Given the description of an element on the screen output the (x, y) to click on. 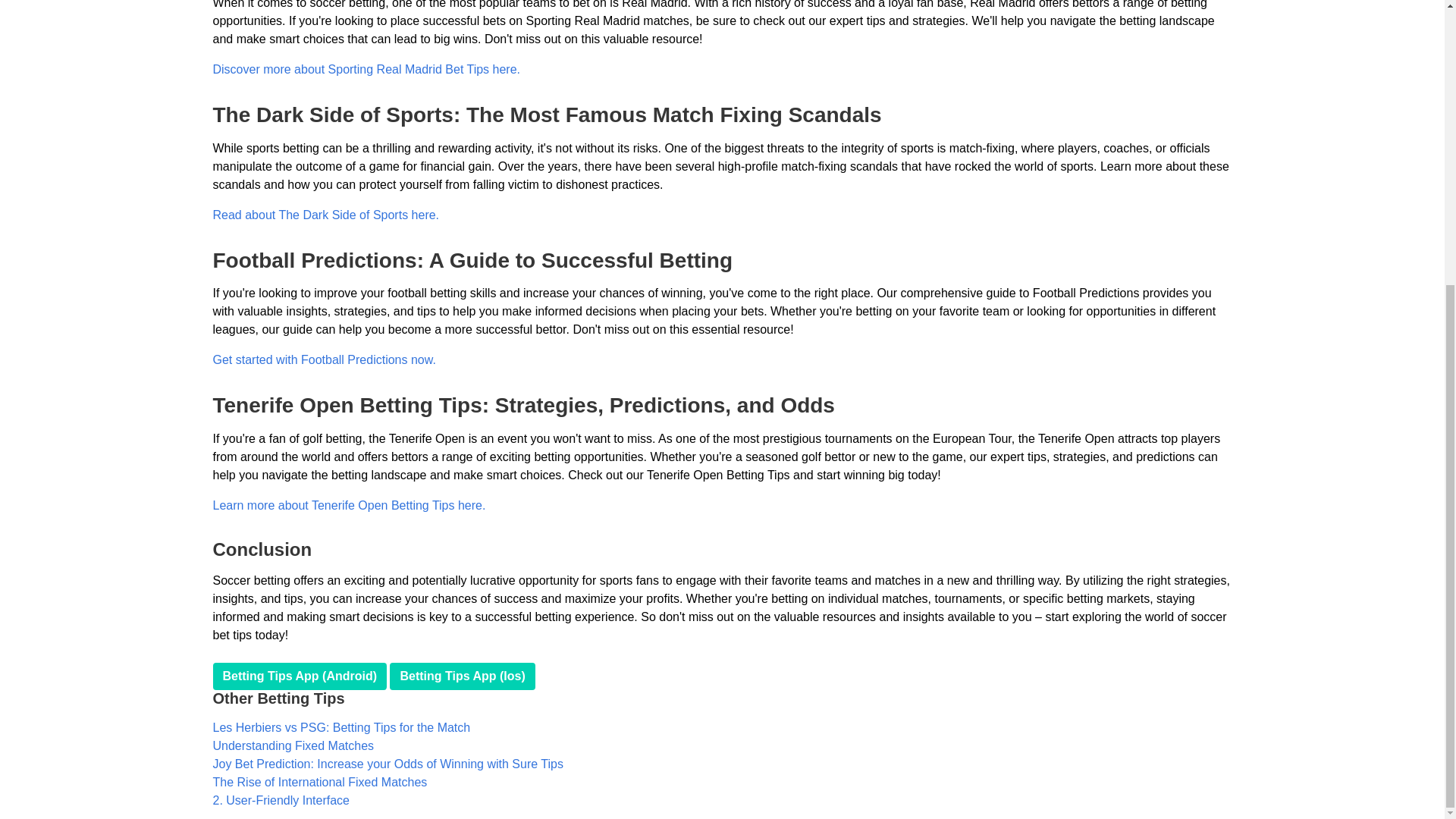
Understanding Fixed Matches (293, 745)
Get started with Football Predictions now. (323, 359)
Les Herbiers vs PSG: Betting Tips for the Match (341, 727)
Read about The Dark Side of Sports here. (325, 214)
The Rise of International Fixed Matches (319, 781)
Learn more about Tenerife Open Betting Tips here. (348, 504)
Les Herbiers vs PSG: Betting Tips for the Match (341, 727)
Understanding Fixed Matches (293, 745)
Discover more about Sporting Real Madrid Bet Tips here. (365, 69)
play (462, 676)
The Rise of International Fixed Matches (319, 781)
play (299, 676)
2. User-Friendly Interface (280, 799)
2. User-Friendly Interface (280, 799)
